Given the description of an element on the screen output the (x, y) to click on. 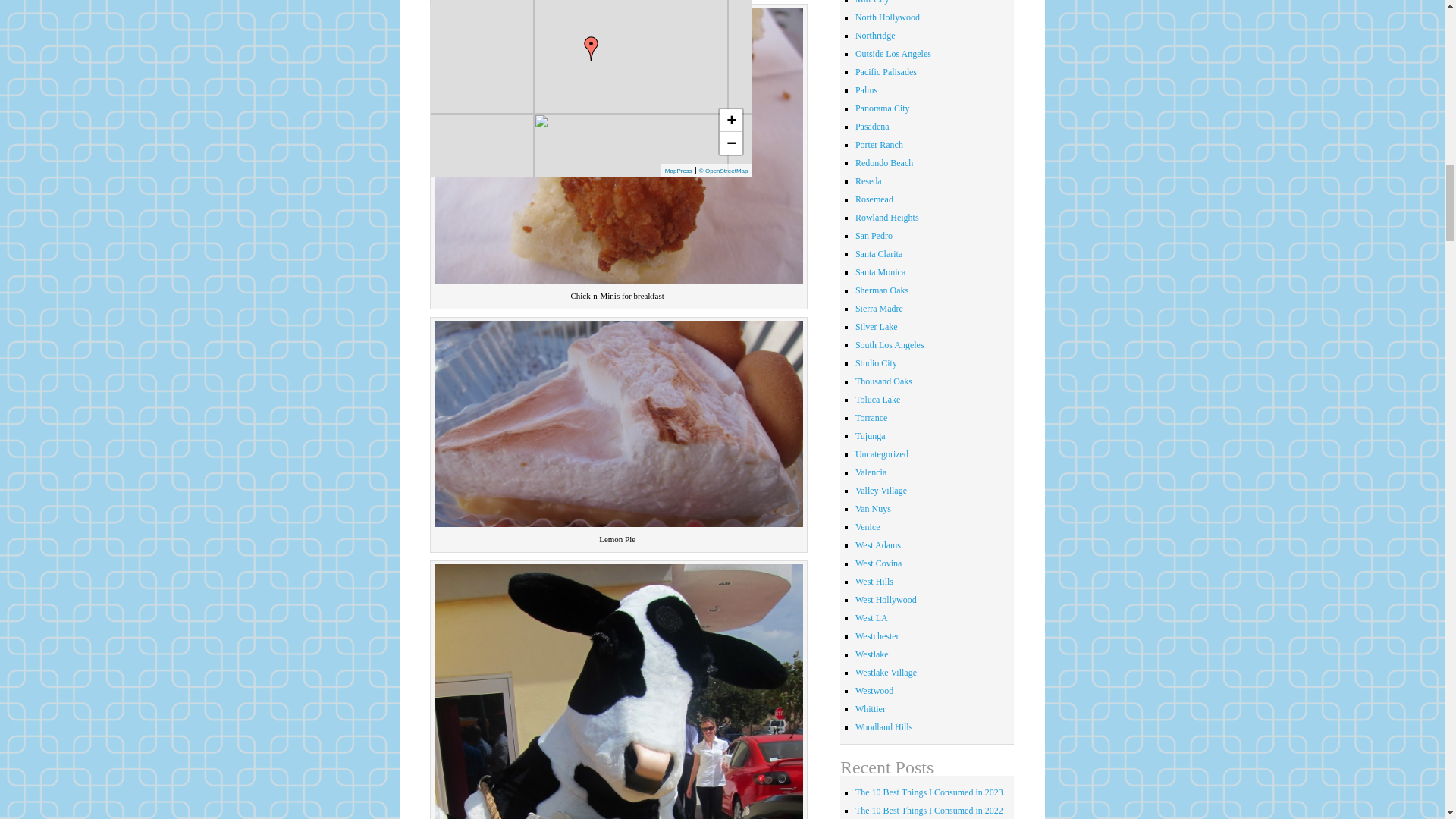
MapPress (679, 170)
